Given the description of an element on the screen output the (x, y) to click on. 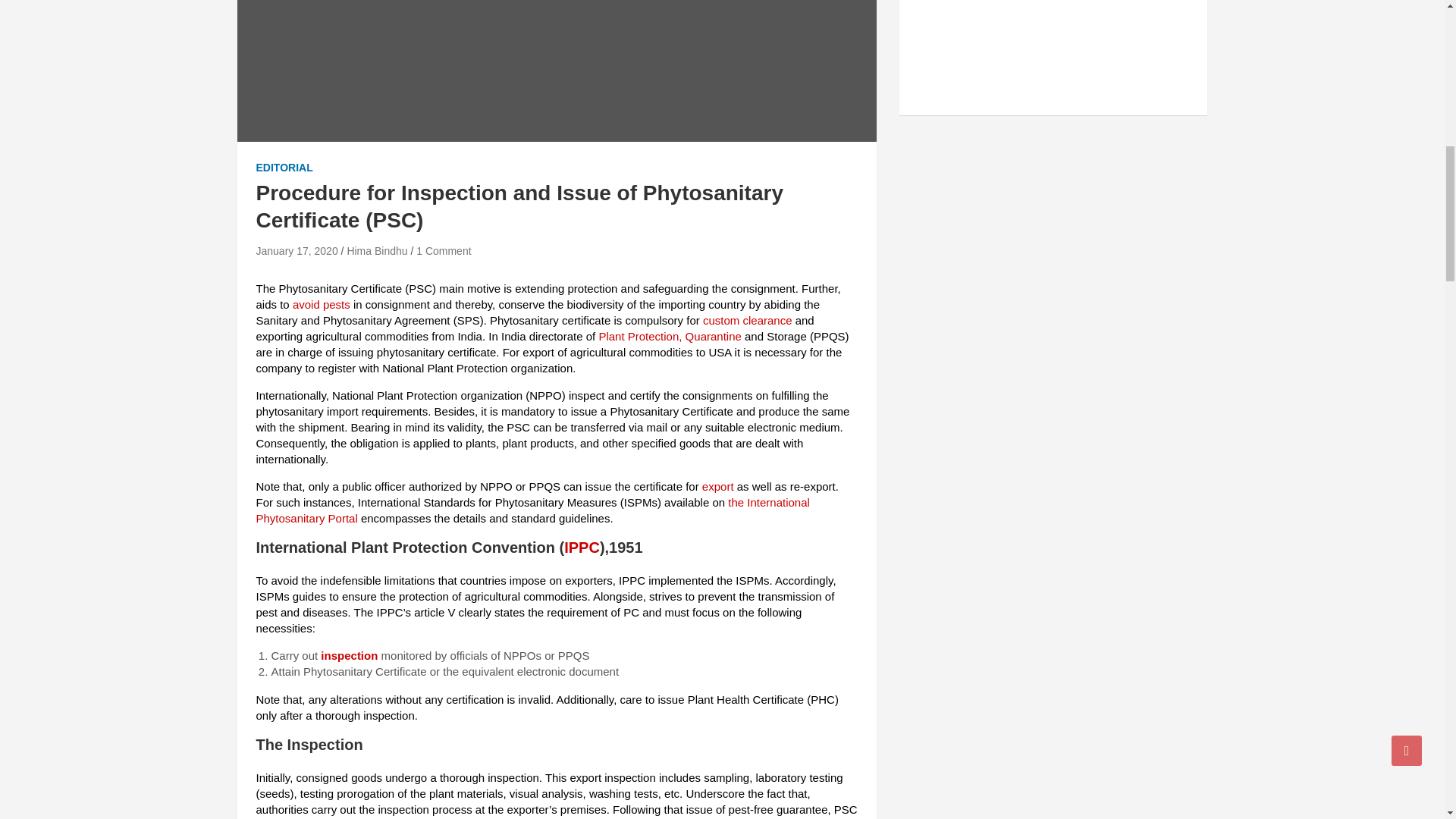
Hima Bindhu (376, 250)
custom clearance (747, 319)
EDITORIAL (284, 168)
the International Phytosanitary Portal (532, 510)
avoid pests (321, 304)
export (718, 486)
inspection  (350, 655)
IPPC (581, 547)
1 Comment (443, 250)
January 17, 2020 (296, 250)
Plant Protection, Quarantine (669, 336)
